Given the description of an element on the screen output the (x, y) to click on. 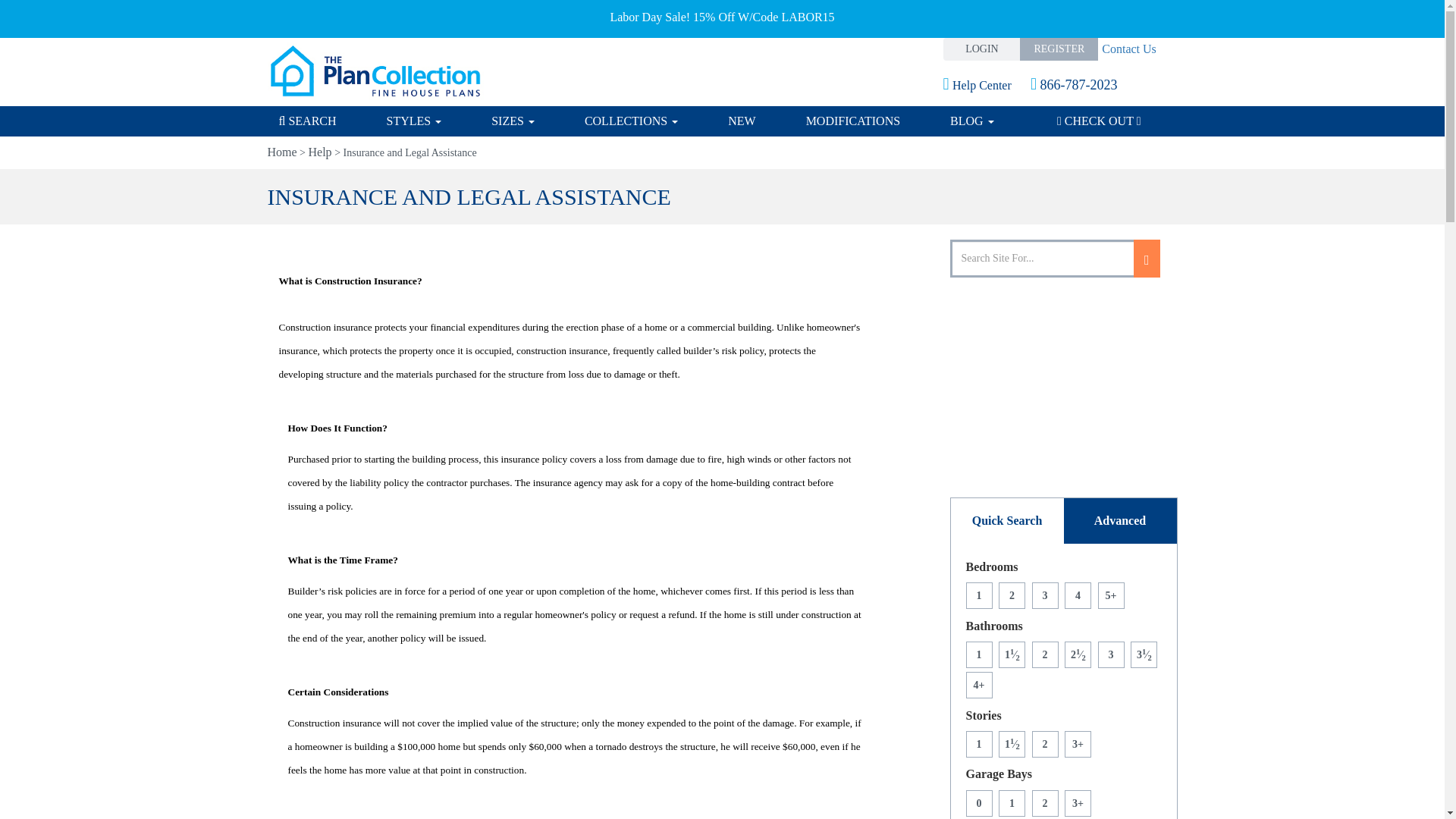
STYLES (414, 121)
Advertisement (1063, 380)
Contact Us (1126, 48)
REGISTER (1058, 48)
LOGIN (982, 48)
Help Center (989, 84)
SEARCH (320, 121)
SIZES (512, 121)
